Given the description of an element on the screen output the (x, y) to click on. 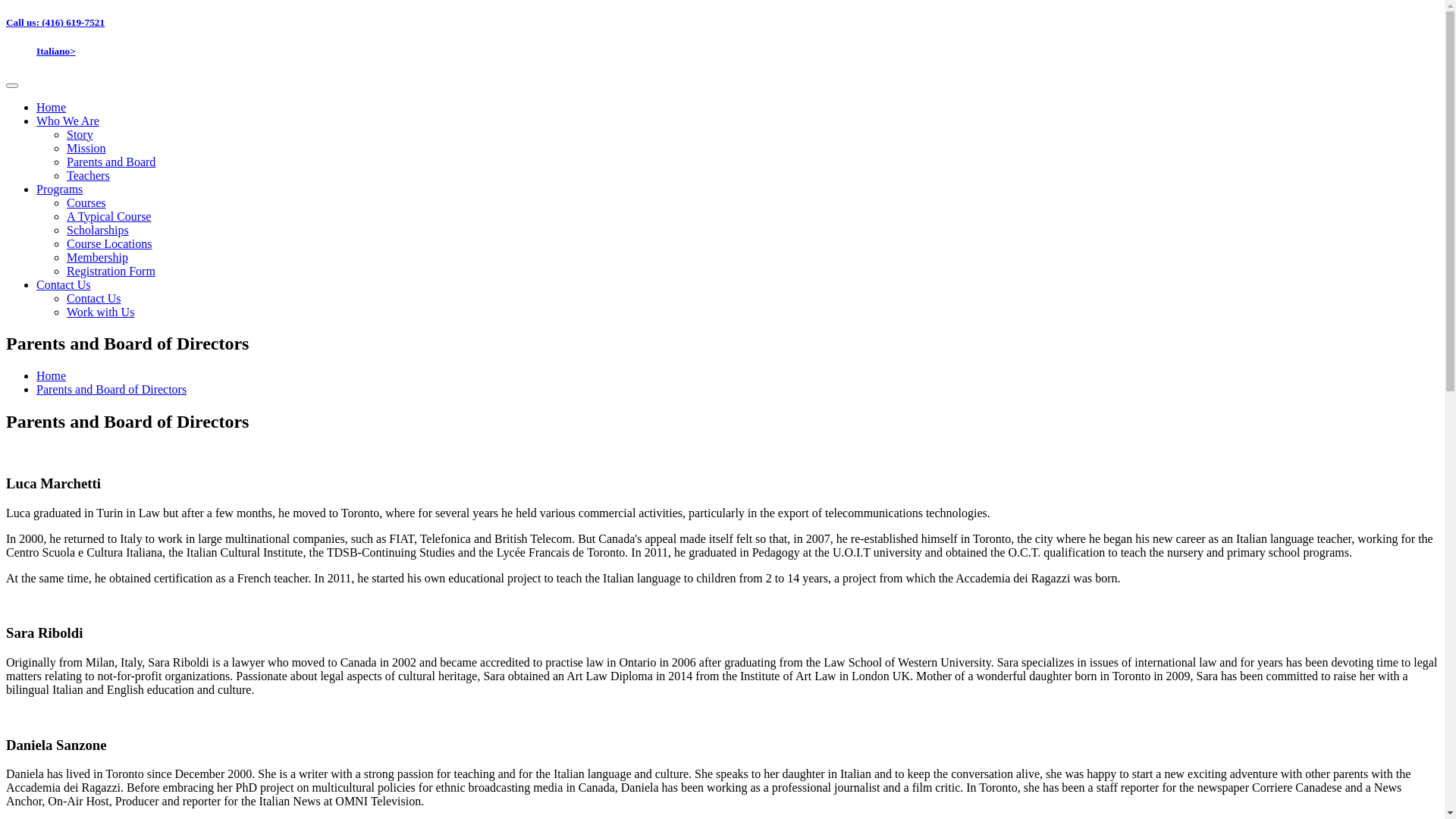
Call us: (416) 619-7521 Element type: text (55, 22)
Contact Us Element type: text (63, 284)
Who We Are Element type: text (67, 120)
Parents and Board of Directors Element type: text (111, 388)
Scholarships Element type: text (97, 229)
Teachers Element type: text (87, 175)
Story Element type: text (79, 134)
Work with Us Element type: text (100, 311)
Contact Us Element type: text (93, 297)
Parents and Board Element type: text (110, 161)
Registration Form Element type: text (110, 270)
Home Element type: text (50, 375)
Programs Element type: text (59, 188)
Italiano> Element type: text (55, 50)
Mission Element type: text (86, 147)
Home Element type: text (50, 106)
Membership Element type: text (97, 257)
Courses Element type: text (86, 202)
Course Locations Element type: text (108, 243)
A Typical Course Element type: text (108, 216)
